Given the description of an element on the screen output the (x, y) to click on. 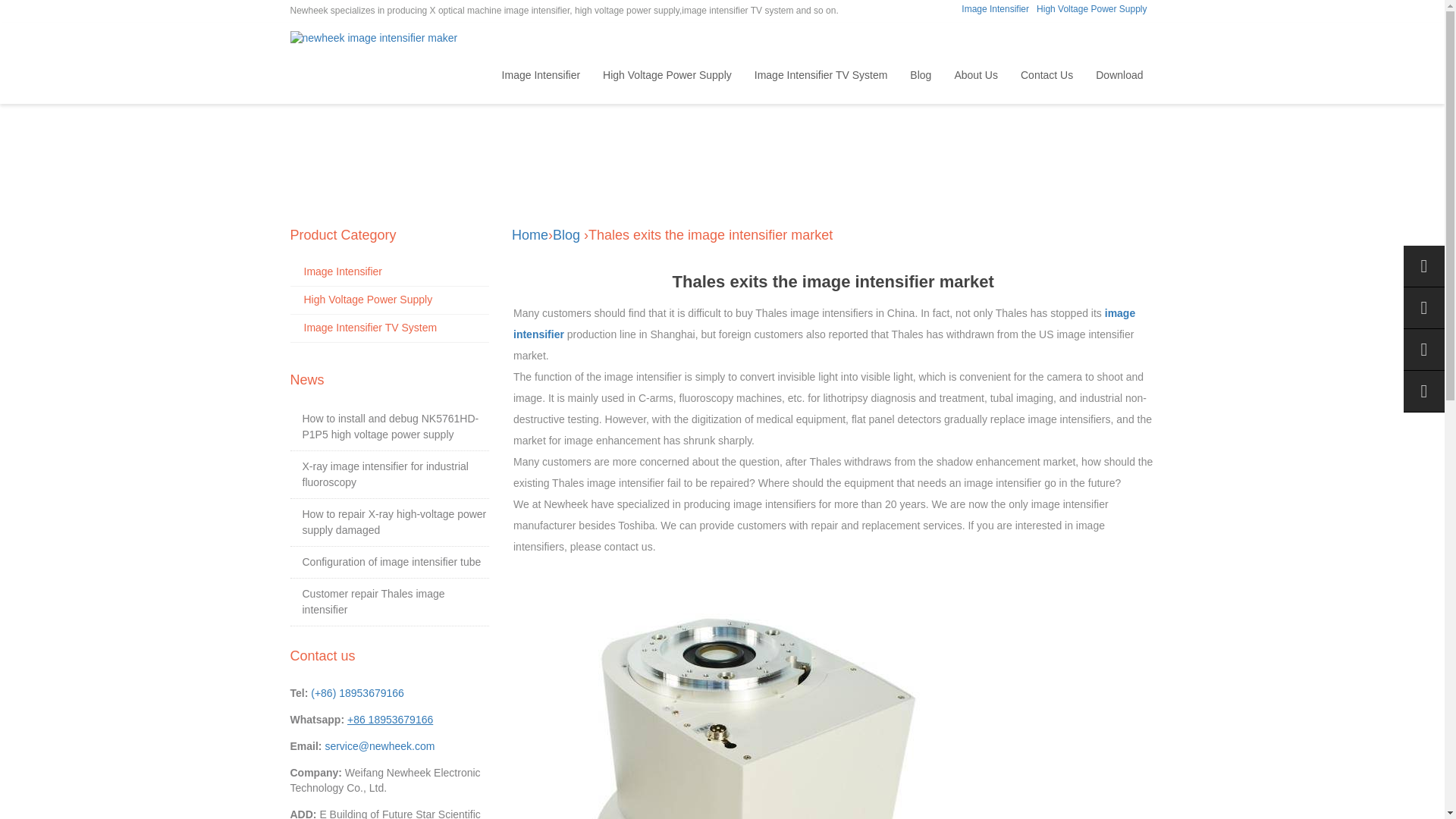
Contact Us (1046, 74)
 X-ray image intensifier for industrial fluoroscopy (384, 474)
High Voltage Power Supply (367, 299)
Download (1119, 74)
Image Intensifier (541, 74)
Image Intensifier TV System (369, 327)
Blog (566, 234)
Customer repair Thales image intensifier (372, 601)
